Given the description of an element on the screen output the (x, y) to click on. 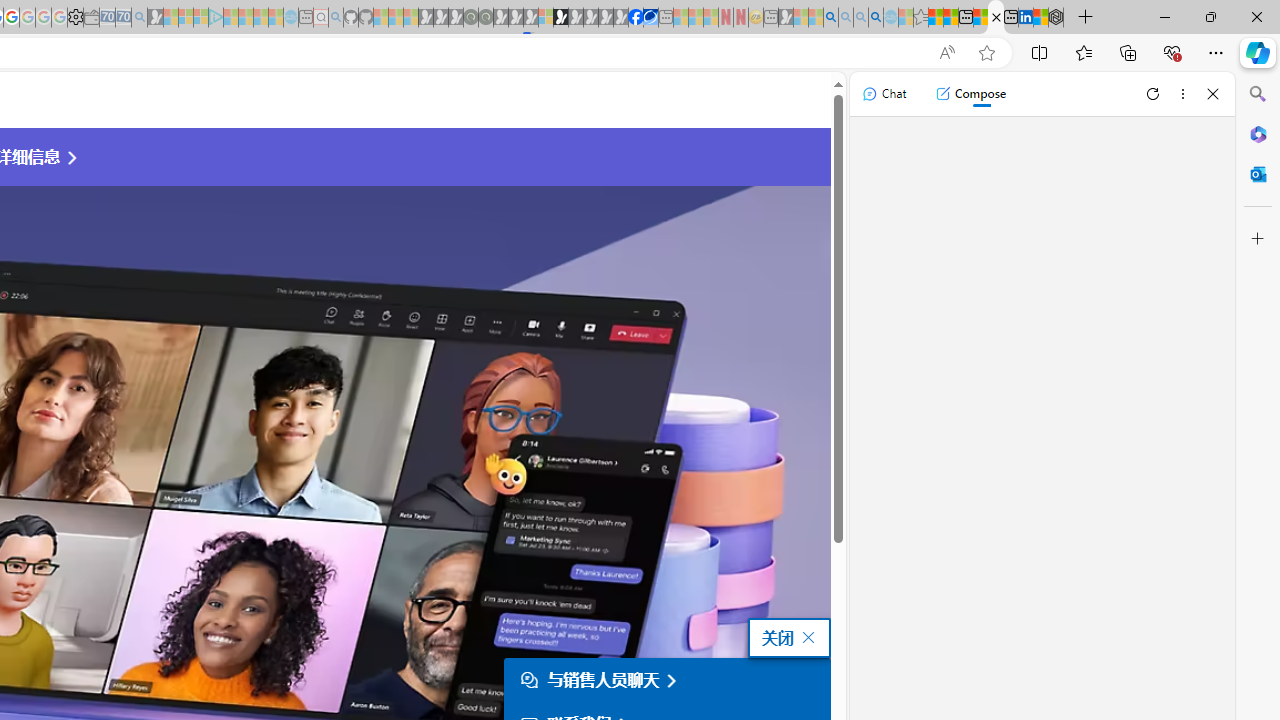
Bing AI - Search (831, 17)
Chat (884, 93)
Sign in to your account - Sleeping (545, 17)
